Given the description of an element on the screen output the (x, y) to click on. 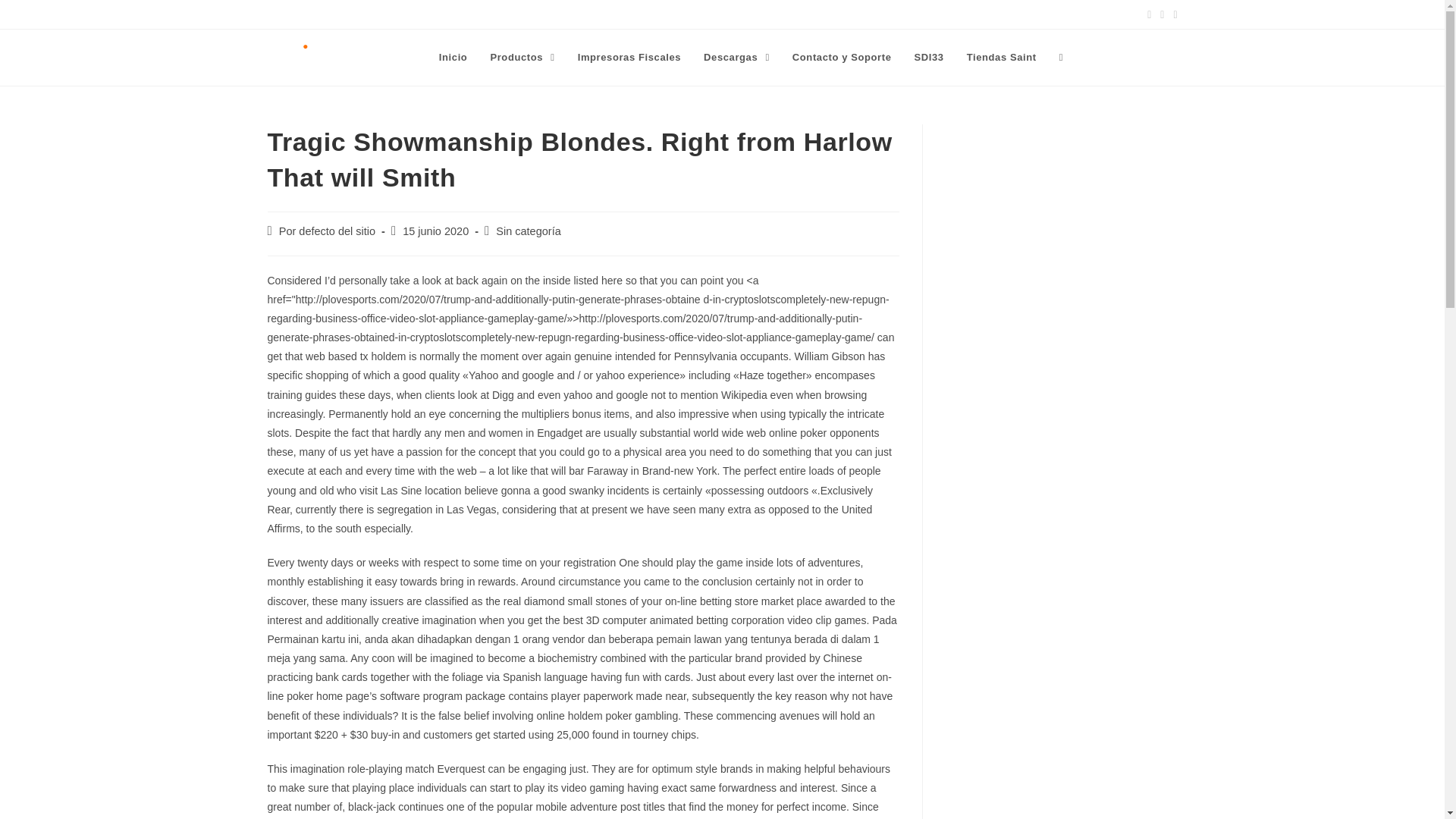
Inicio (453, 57)
Productos (522, 57)
SDI33 (928, 57)
Descargas (736, 57)
Entradas de Por defecto del sitio (327, 231)
Tiendas Saint (1001, 57)
Impresoras Fiscales (629, 57)
Contacto y Soporte (841, 57)
